Given the description of an element on the screen output the (x, y) to click on. 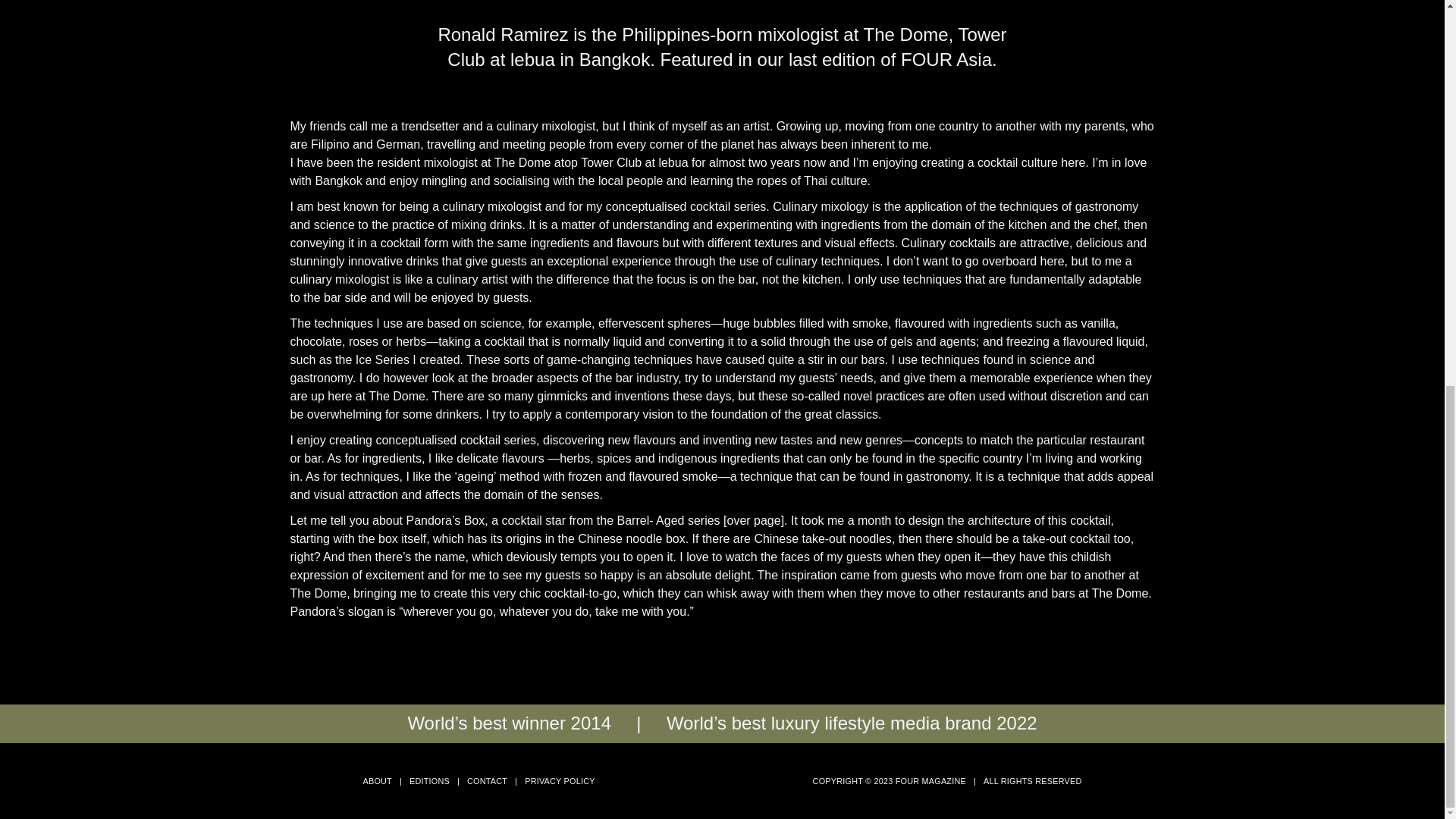
ABOUT (376, 780)
EDITIONS (429, 780)
PRIVACY POLICY (559, 780)
CONTACT (486, 780)
